Given the description of an element on the screen output the (x, y) to click on. 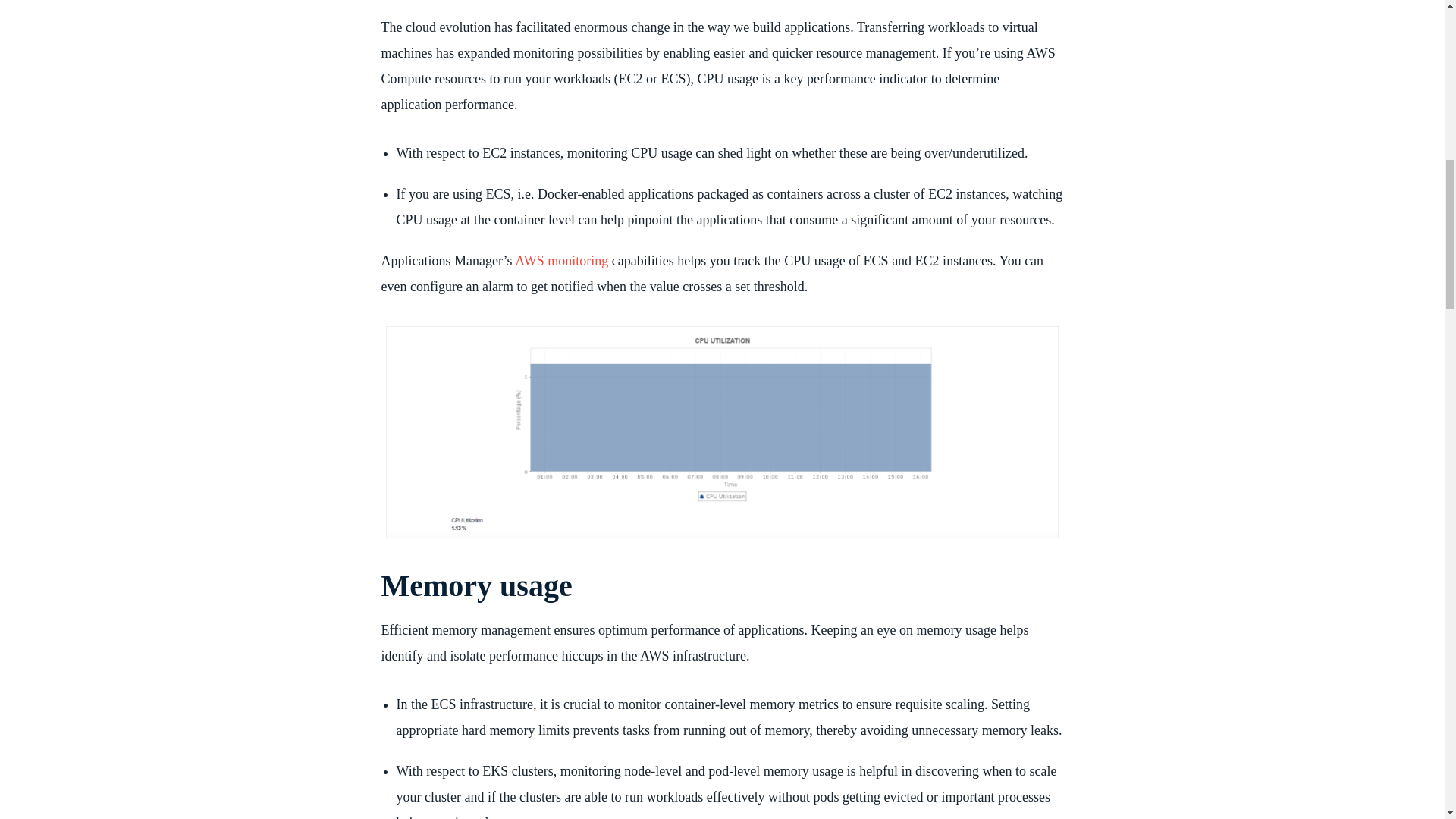
AWS monitoring (561, 260)
